Given the description of an element on the screen output the (x, y) to click on. 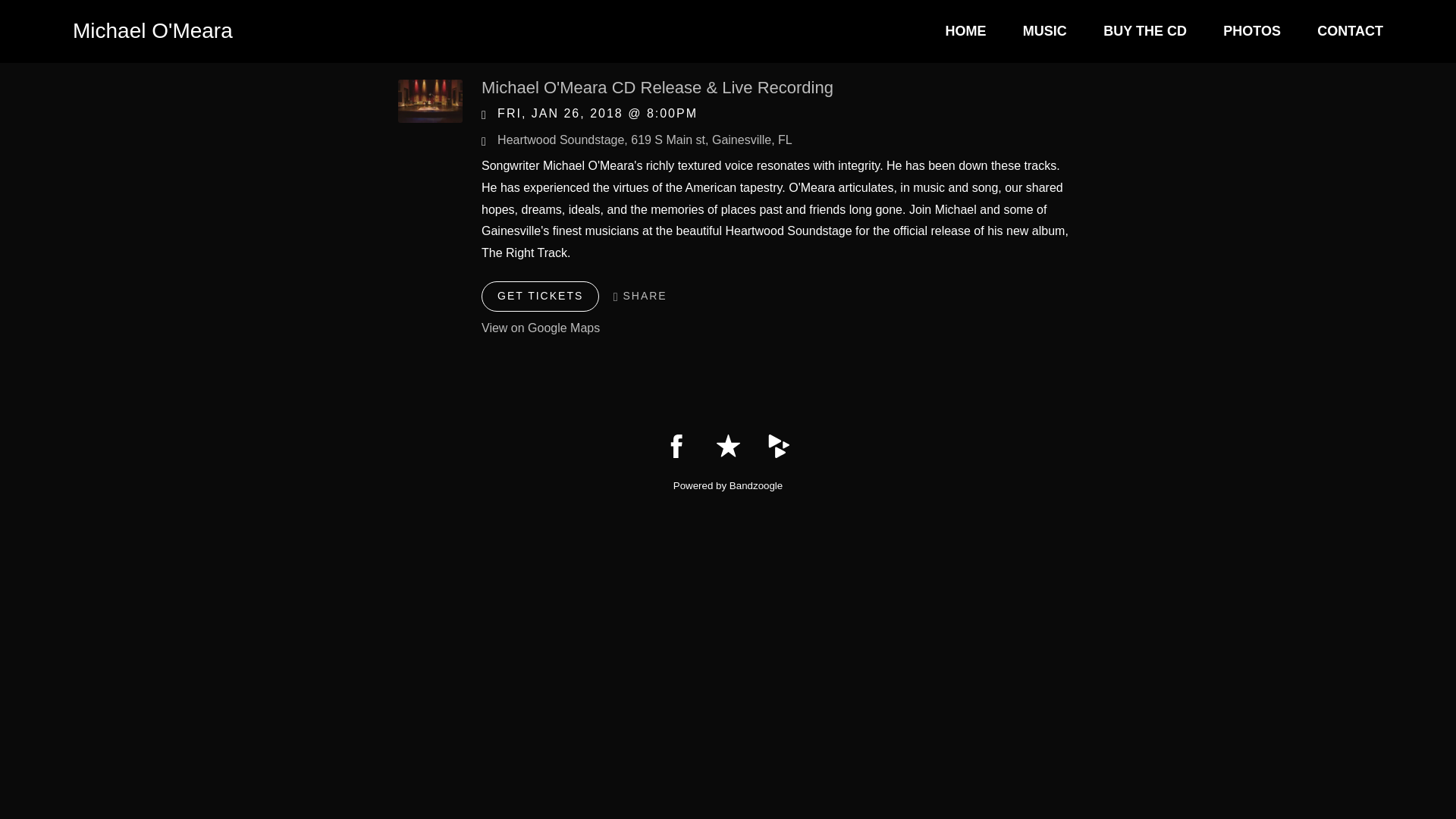
View on Google Maps (644, 139)
Powered by Bandzoogle (727, 485)
MUSIC (1045, 31)
BUY THE CD (1144, 31)
GET TICKETS (539, 296)
View on Google Maps (540, 327)
PHOTOS (1252, 31)
Michael O'Meara (152, 31)
SHARE (639, 296)
HOME (964, 31)
Powered by Bandzoogle (727, 485)
Heartwood Soundstage, 619 S Main st, Gainesville, FL (644, 139)
CONTACT (1350, 31)
